Given the description of an element on the screen output the (x, y) to click on. 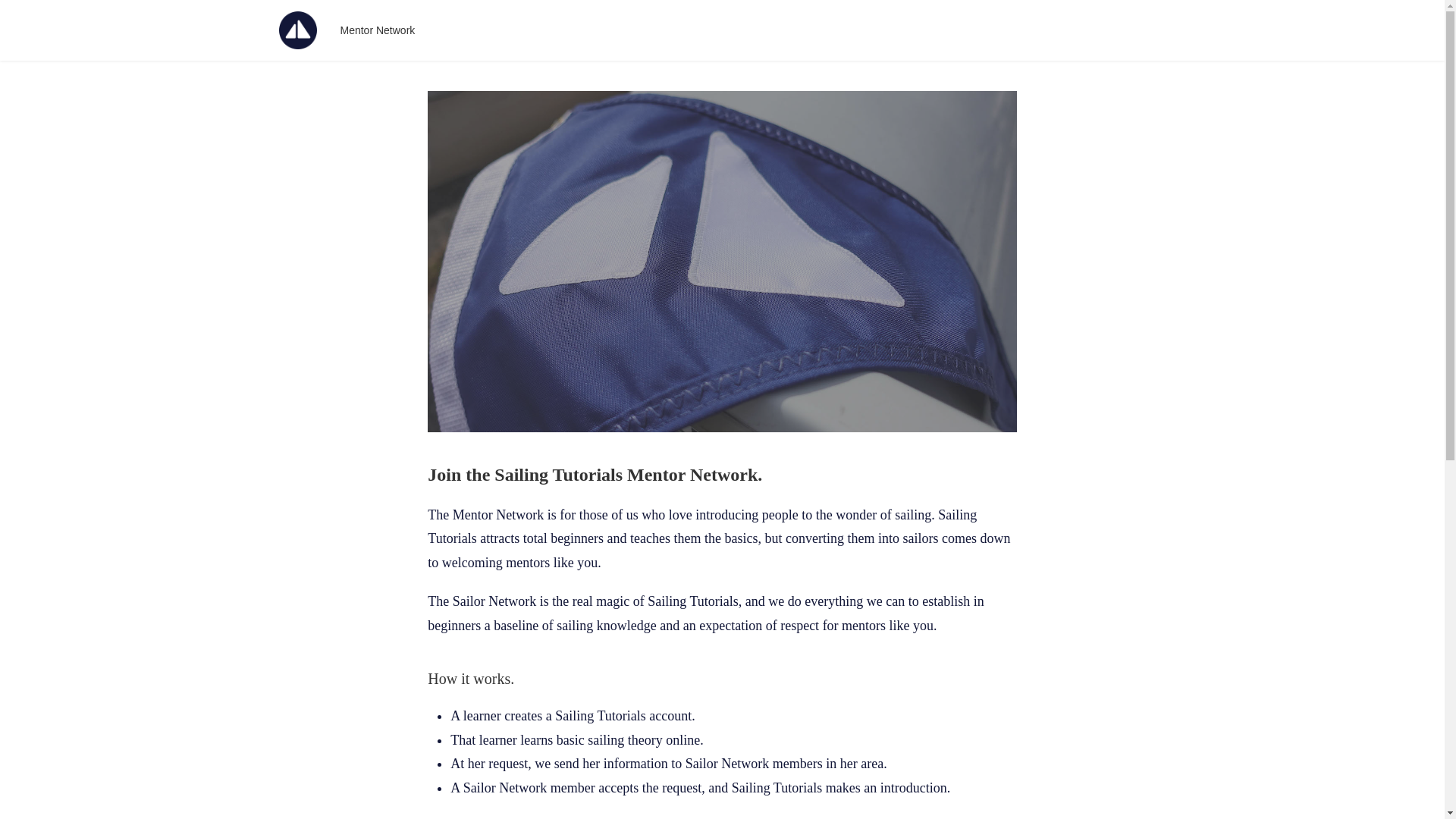
Mentor Network (377, 30)
